Given the description of an element on the screen output the (x, y) to click on. 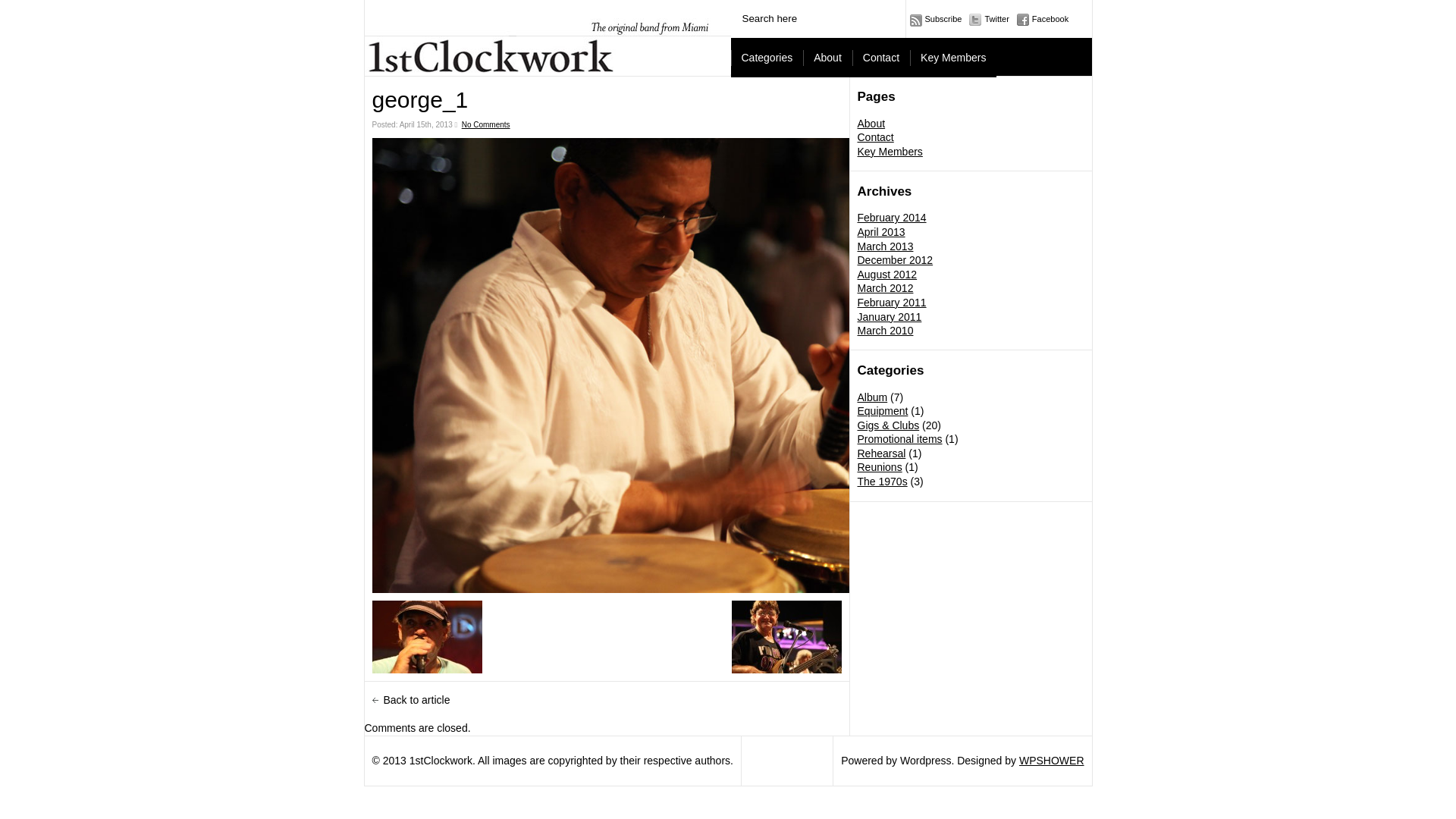
February 2014 Element type: text (890, 217)
The 1970s Element type: text (881, 481)
Subscribe Element type: text (936, 18)
Categories Element type: text (767, 57)
Back to article Element type: text (410, 699)
January 2011 Element type: text (888, 316)
Equipment Element type: text (881, 410)
Contact Element type: text (874, 137)
Promotional items Element type: text (898, 439)
March 2010 Element type: text (884, 330)
August 2012 Element type: text (886, 274)
February 2011 Element type: text (890, 302)
About Element type: text (827, 57)
Gigs & Clubs Element type: text (887, 425)
Key Members Element type: text (889, 151)
Reunions Element type: text (878, 467)
Contact Element type: text (881, 57)
Rehearsal Element type: text (880, 453)
Album Element type: text (871, 397)
March 2013 Element type: text (884, 246)
Facebook Element type: text (1042, 18)
Twitter Element type: text (988, 18)
March 2012 Element type: text (884, 288)
george_1 Element type: hover (605, 365)
April 2013 Element type: text (880, 231)
About Element type: text (870, 123)
December 2012 Element type: text (894, 260)
Key Members Element type: text (953, 57)
WPSHOWER Element type: text (1051, 760)
No Comments Element type: text (485, 124)
